Given the description of an element on the screen output the (x, y) to click on. 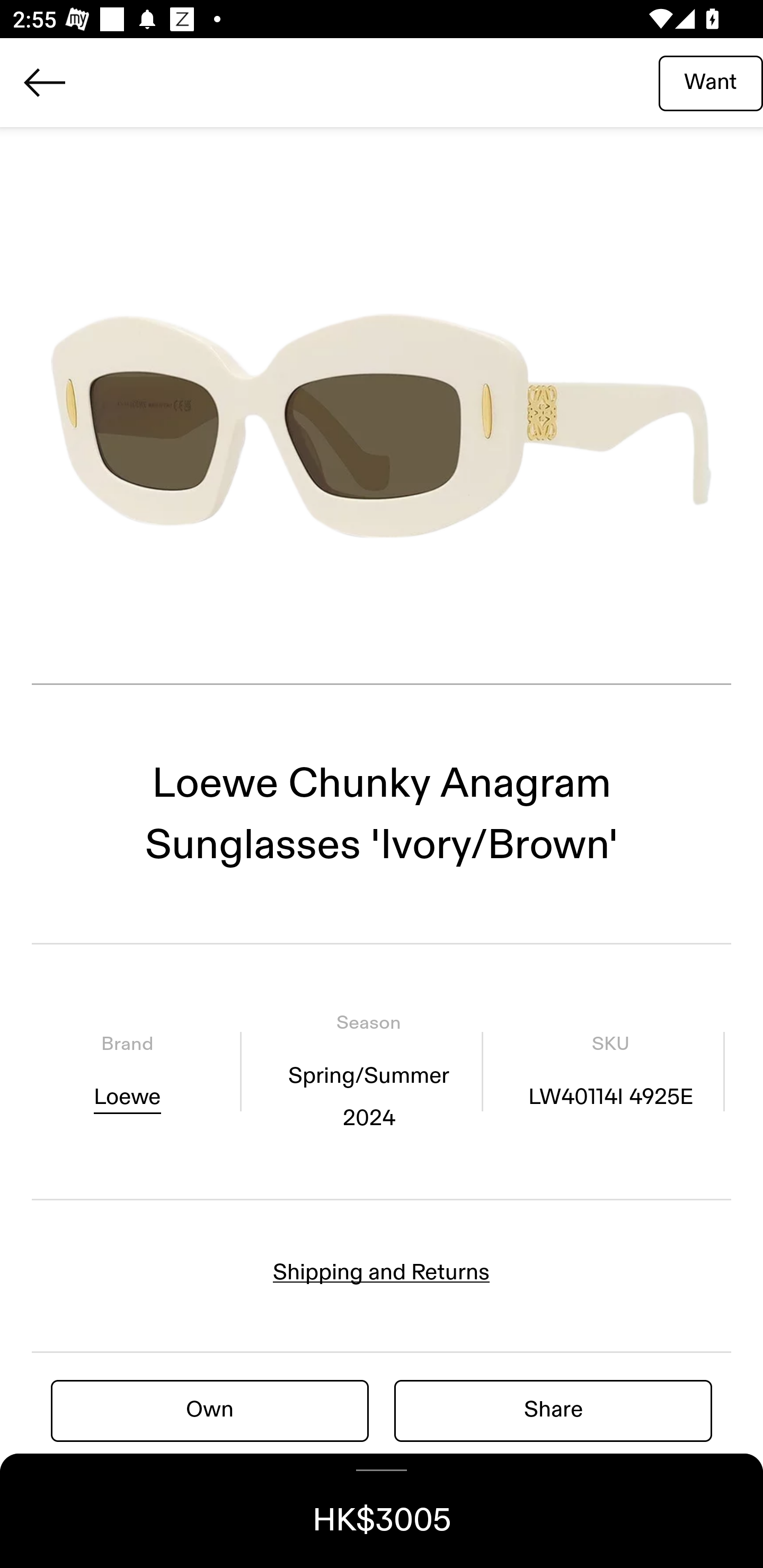
Want (710, 82)
Brand Loewe (126, 1070)
Season Spring/Summer 2024 (368, 1070)
SKU LW40114I 4925E (609, 1070)
Shipping and Returns (381, 1272)
Own (209, 1410)
Share (552, 1410)
HK$3005 (381, 1510)
